Given the description of an element on the screen output the (x, y) to click on. 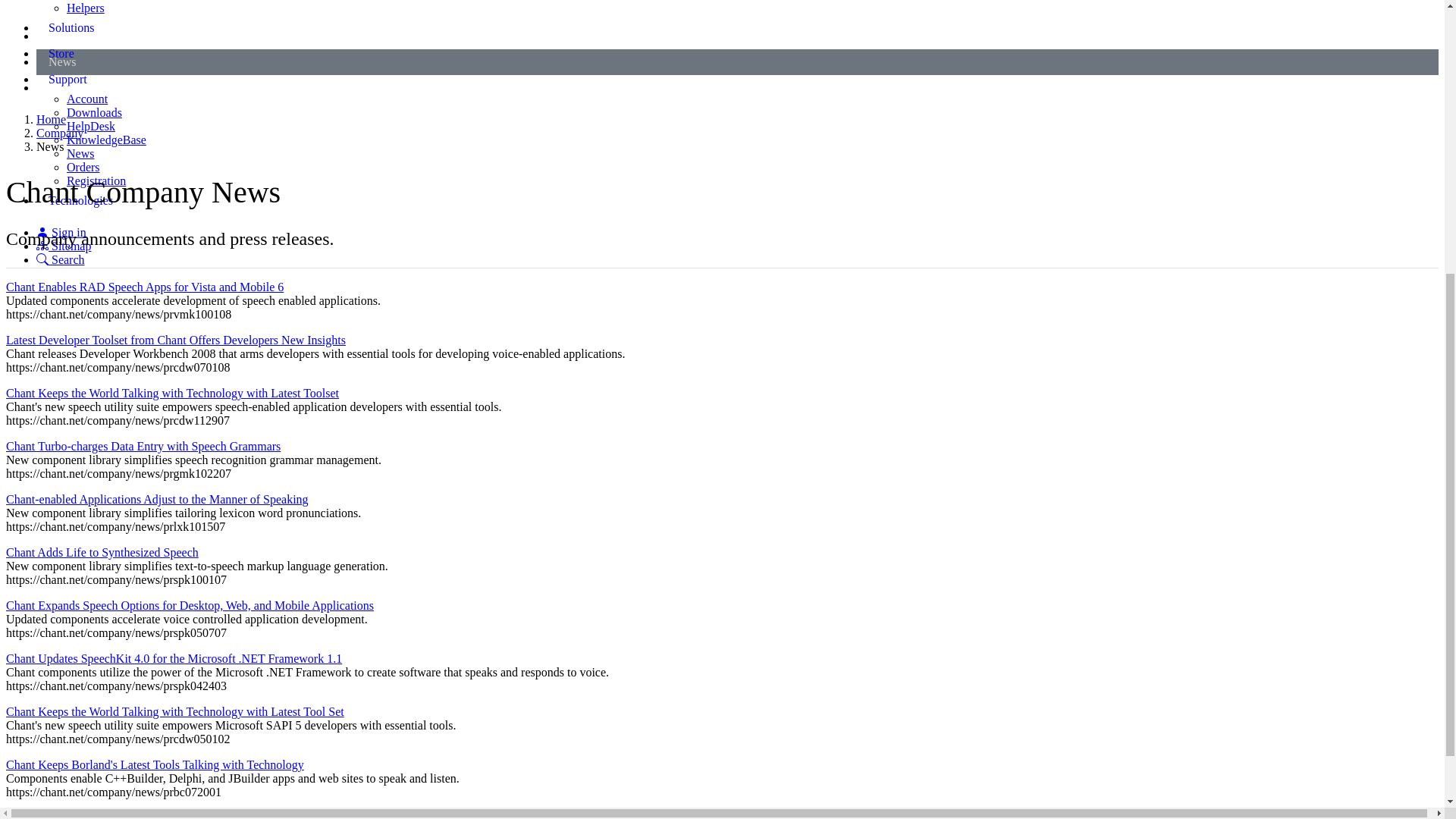
Orders (83, 166)
Chant Turbo-charges Data Entry with Speech Grammars (143, 445)
News (80, 153)
HelpDesk (90, 125)
Chant Adds Life to Synthesized Speech (101, 552)
Sitemap (63, 245)
Sign in (60, 232)
Chant-enabled Applications Adjust to the Manner of Speaking (156, 499)
Sitemap (63, 245)
Registration (95, 180)
